Given the description of an element on the screen output the (x, y) to click on. 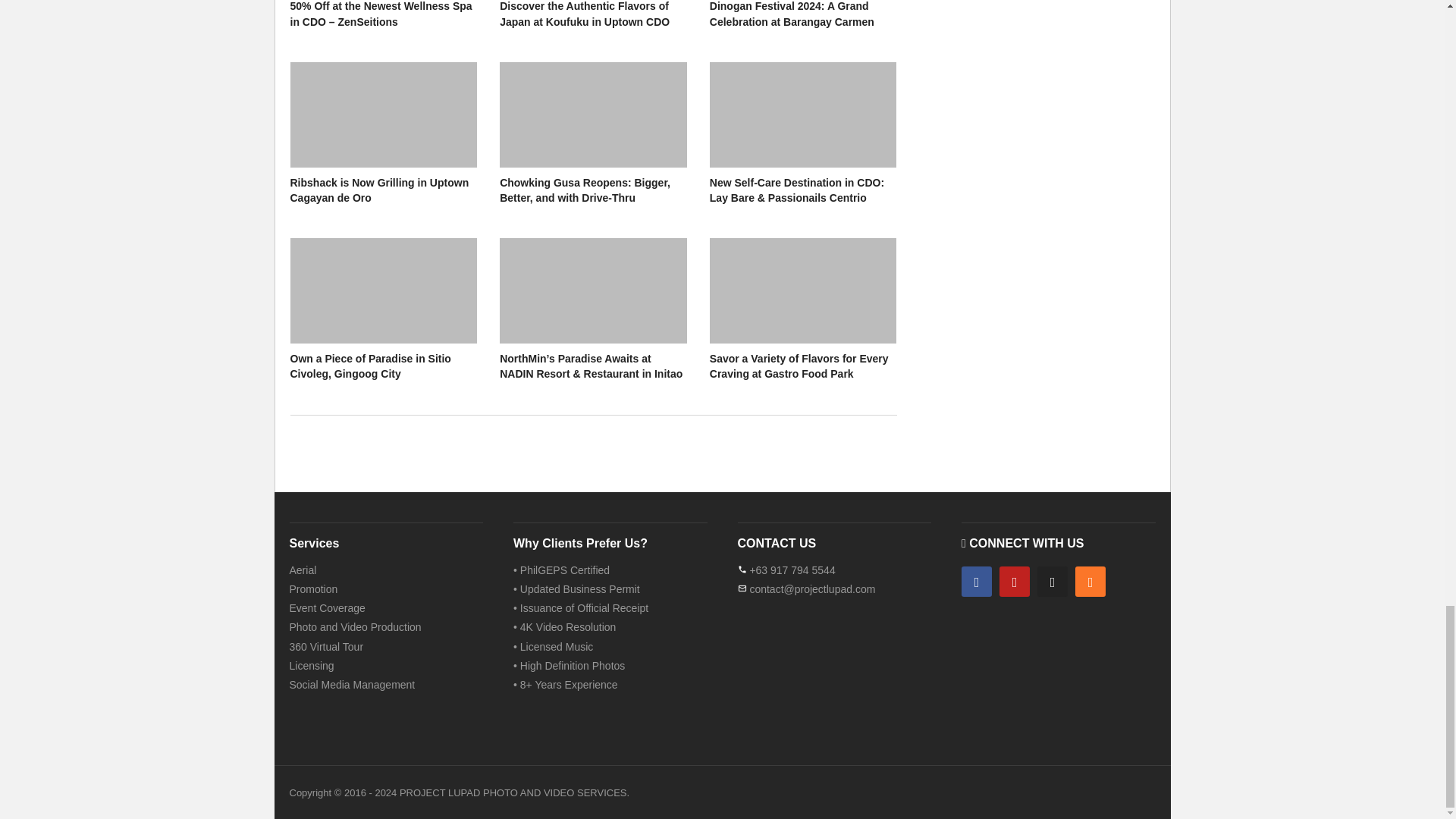
Ribshack is Now Grilling in Uptown Cagayan de Oro (378, 189)
